Given the description of an element on the screen output the (x, y) to click on. 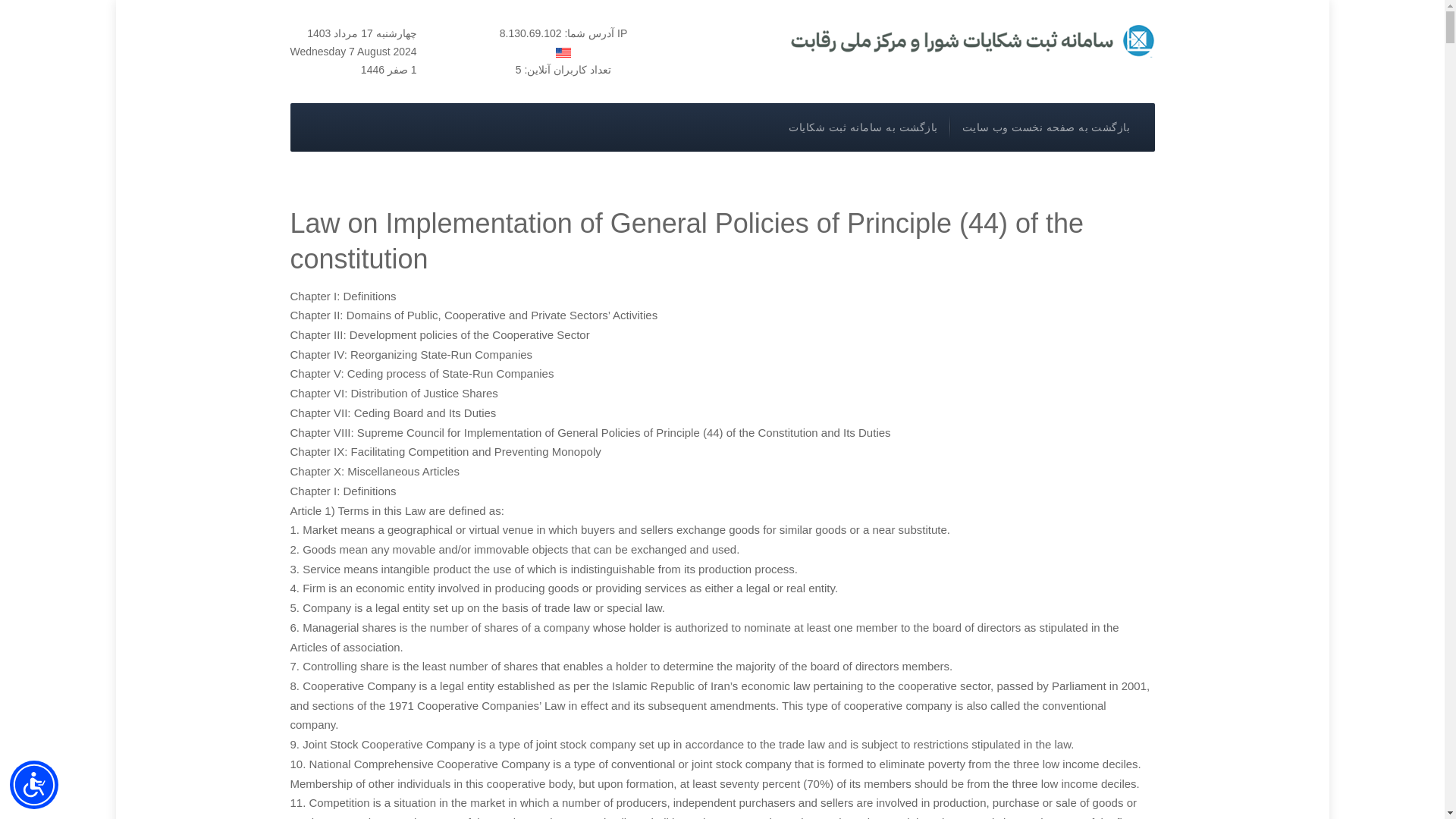
Accessibility Menu (34, 784)
US (563, 52)
